Given the description of an element on the screen output the (x, y) to click on. 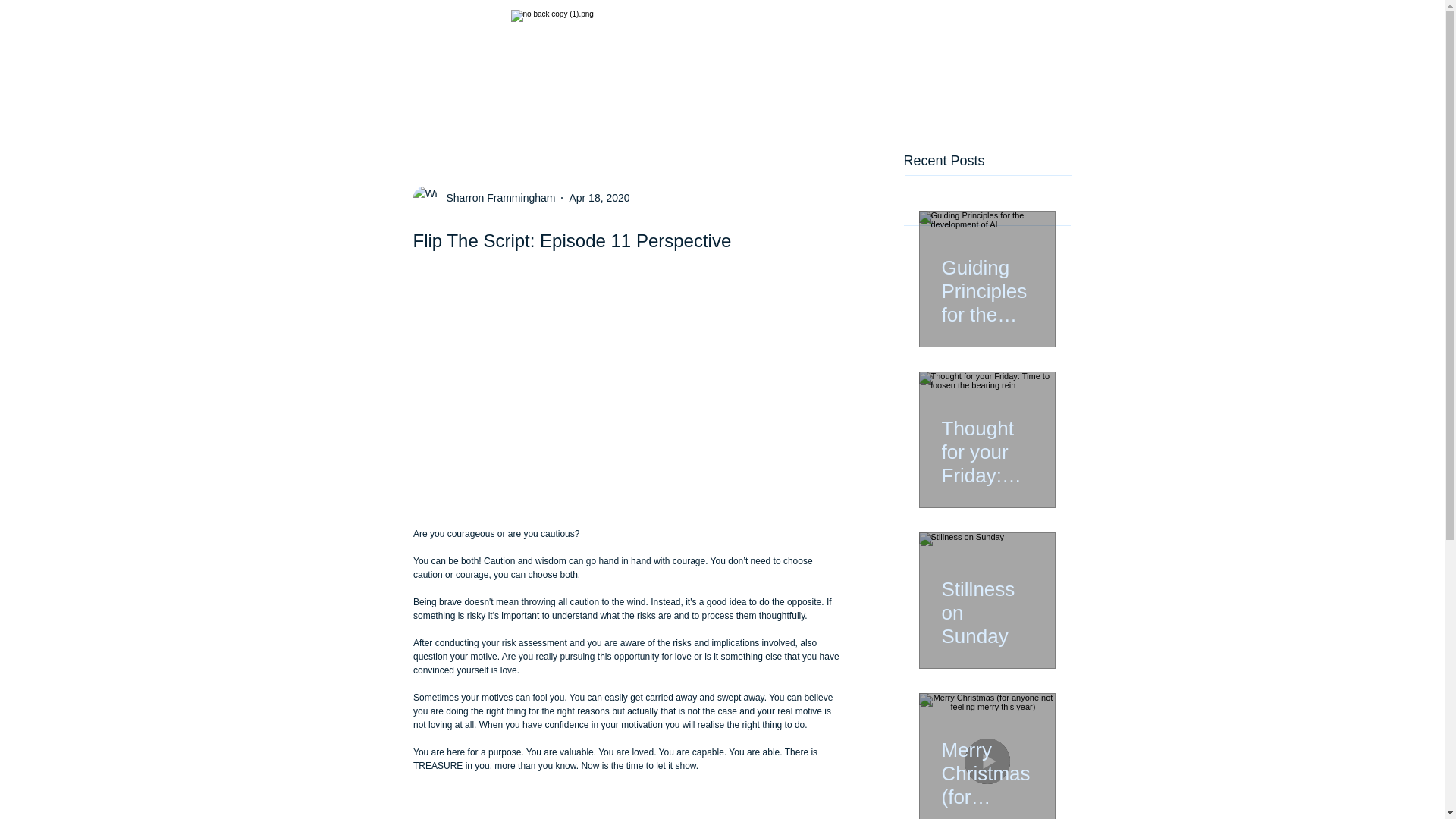
Thought for your Friday: Time to loosen the bearing rein (987, 445)
Apr 18, 2020 (598, 196)
Guiding Principles for the development of AI (987, 284)
Stillness on Sunday (987, 606)
Sharron Frammingham (483, 197)
Sharron Frammingham (495, 197)
